Given the description of an element on the screen output the (x, y) to click on. 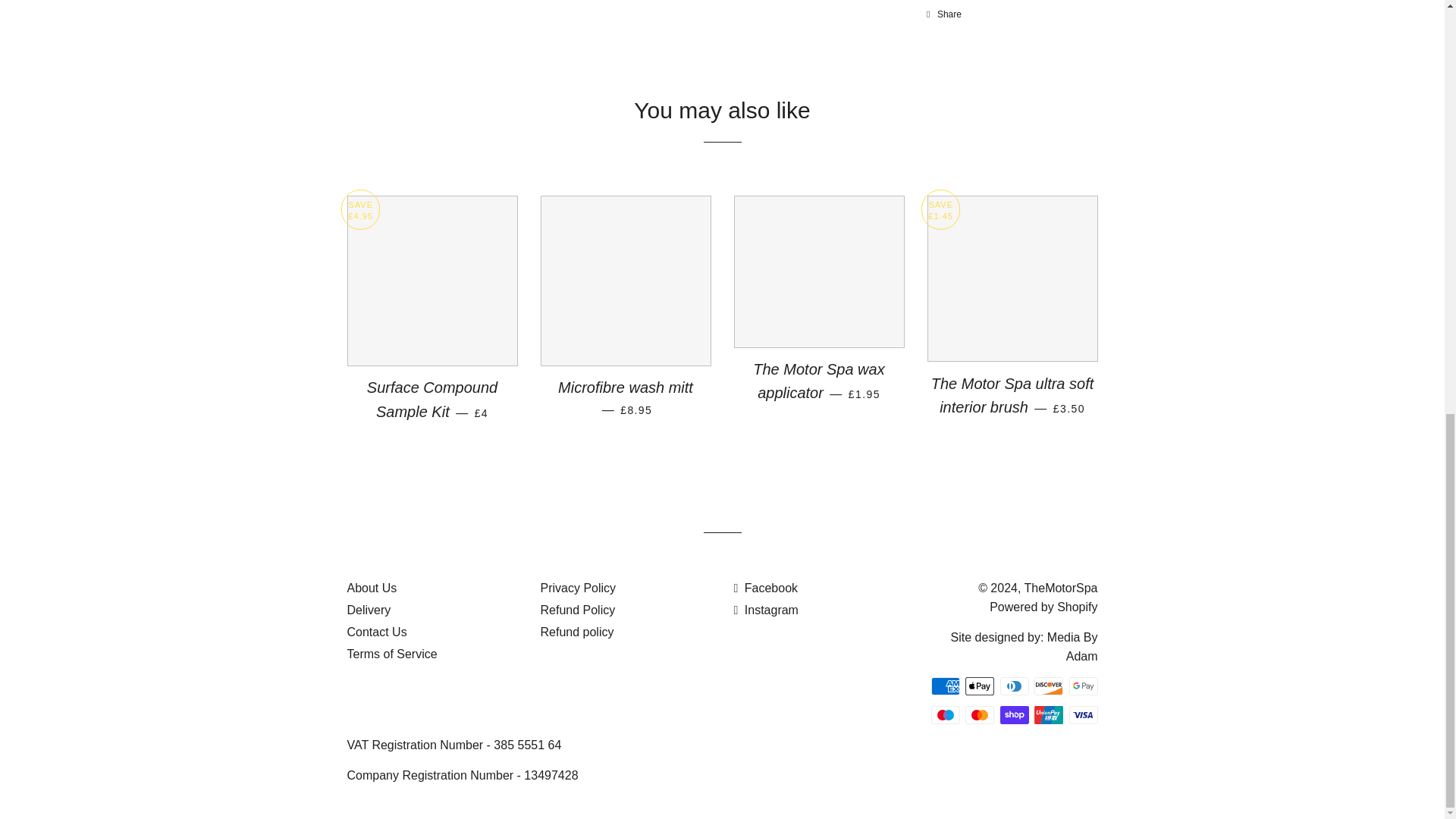
Apple Pay (979, 686)
Visa (1082, 714)
TheMotorSpa on Instagram (765, 609)
TheMotorSpa on Facebook (765, 587)
Media By Adam (1071, 646)
Google Pay (1082, 686)
Mastercard (979, 714)
Union Pay (1047, 714)
Discover (1047, 686)
American Express (945, 686)
Maestro (945, 714)
Share on Facebook (943, 13)
Diners Club (1012, 686)
Shop Pay (1012, 714)
